Given the description of an element on the screen output the (x, y) to click on. 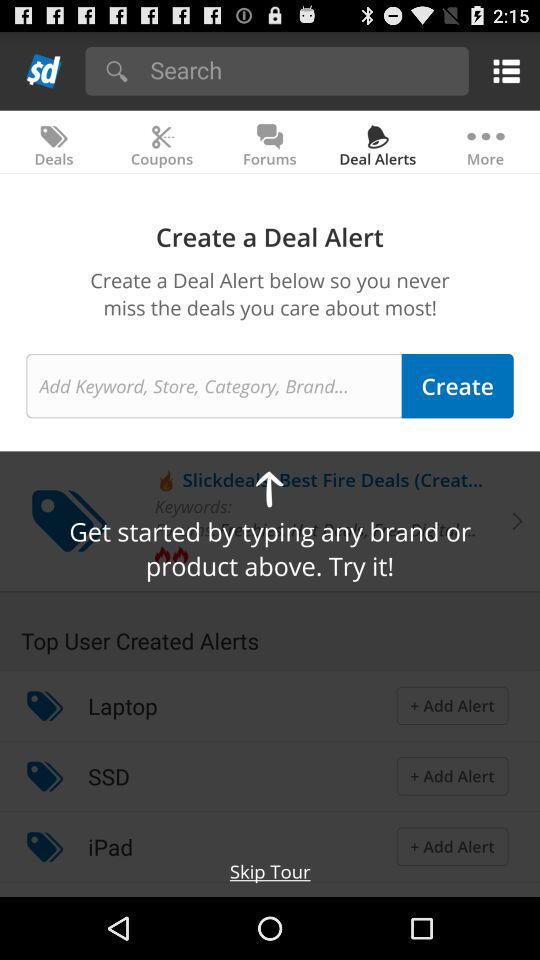
choose the app next to the forums: item (352, 529)
